Given the description of an element on the screen output the (x, y) to click on. 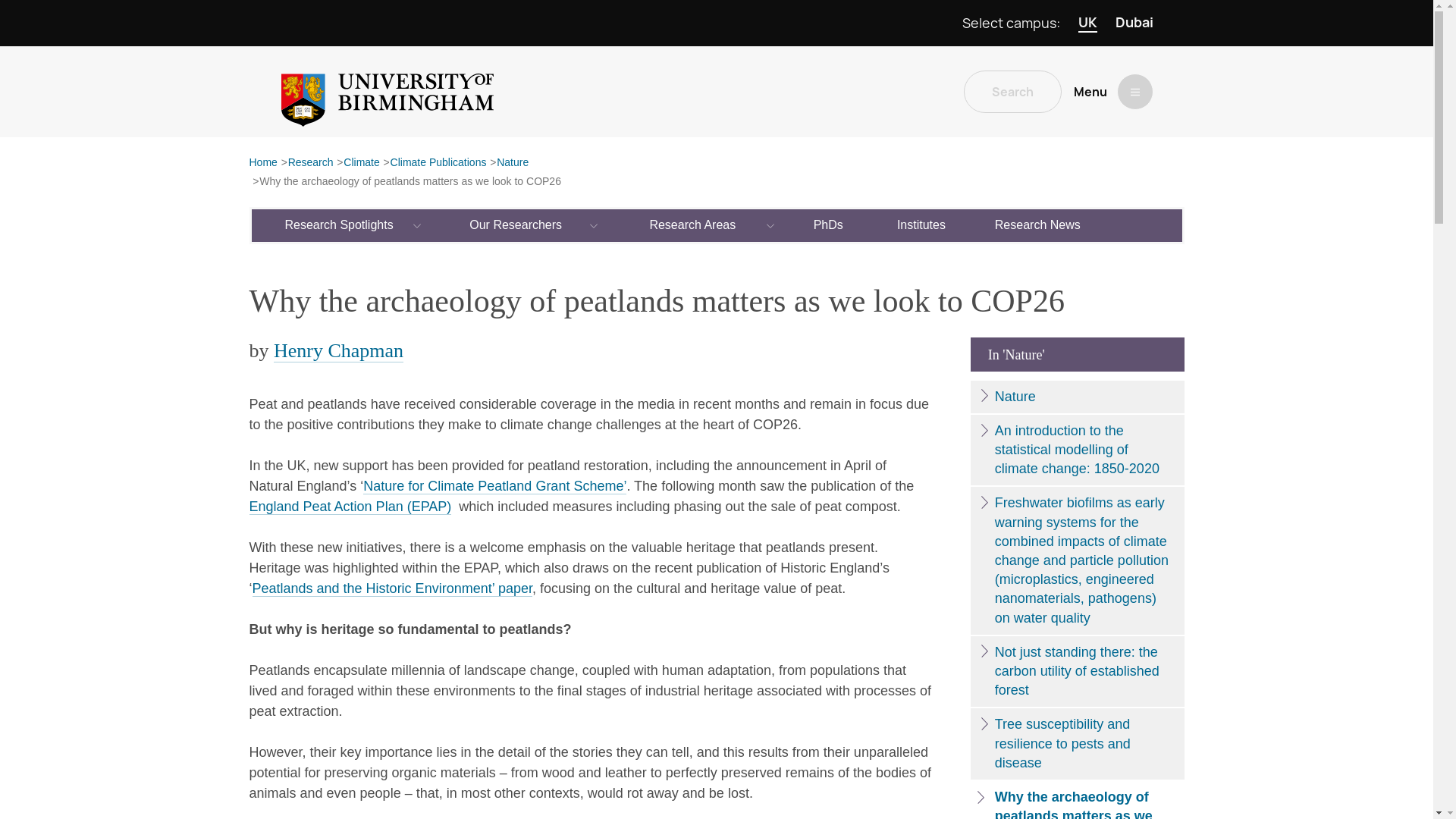
Search (1012, 91)
UK (1087, 23)
Climate Publications (438, 163)
Dubai (1134, 23)
Our Researchers (516, 224)
Home (262, 163)
Research Areas (693, 224)
Research Spotlights (339, 224)
Research (310, 163)
Climate (360, 163)
Why the archaeology of peatlands matters as we look to COP26 (409, 182)
Nature (512, 163)
